Given the description of an element on the screen output the (x, y) to click on. 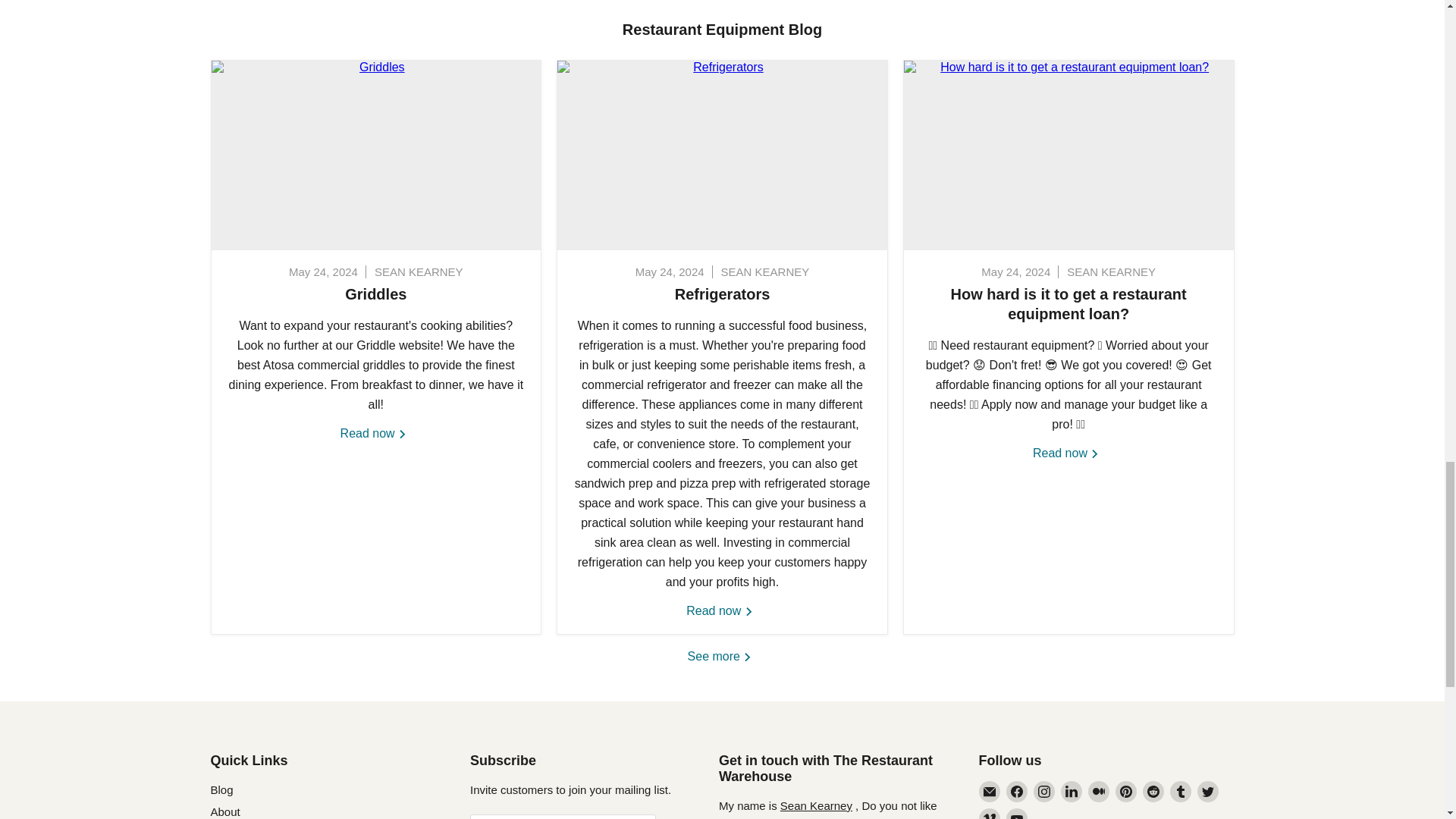
Pinterest (1125, 791)
Tumblr (1180, 791)
Reddit (1152, 791)
Twitter (1206, 791)
Medium (1097, 791)
Email (988, 791)
Facebook (1016, 791)
LinkedIn (1070, 791)
Instagram (1043, 791)
Vimeo (988, 813)
